Given the description of an element on the screen output the (x, y) to click on. 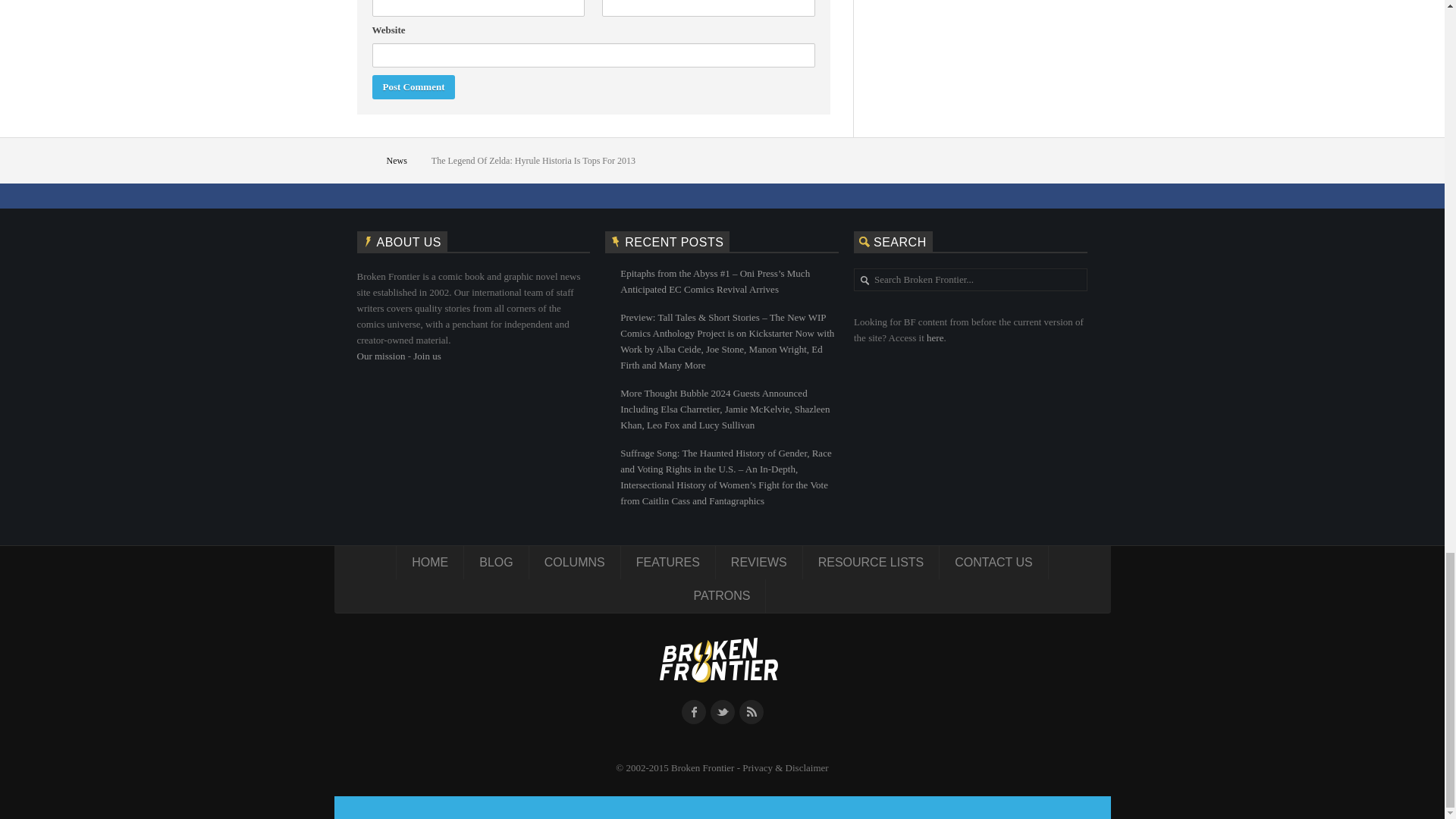
Our mission (380, 355)
Join us (427, 355)
Post Comment (412, 87)
Post Comment (412, 87)
News (399, 160)
Search Broken Frontier... (978, 279)
